Given the description of an element on the screen output the (x, y) to click on. 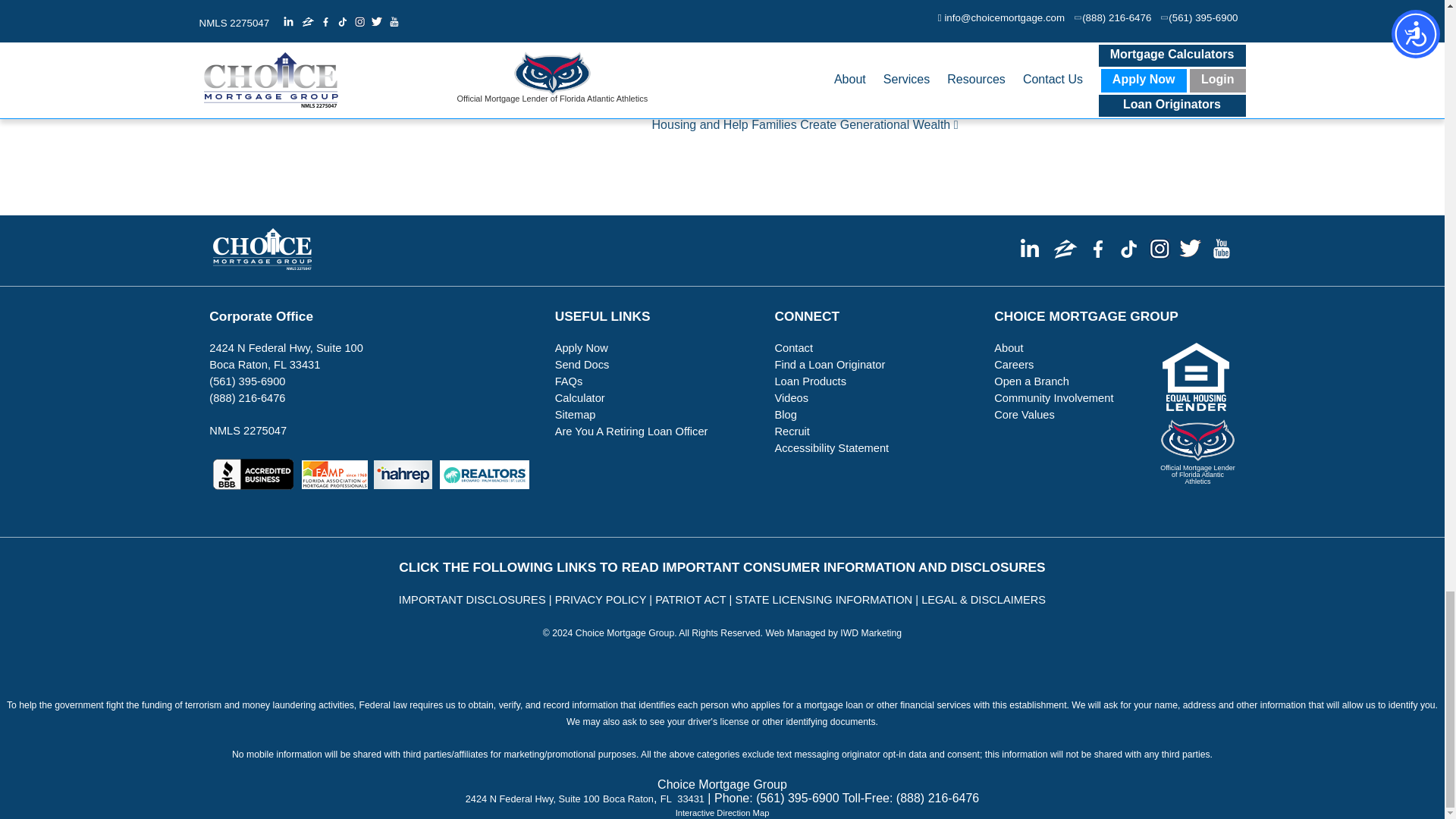
Facebook (732, 29)
Print (823, 29)
Twitter (762, 29)
Copy Link (853, 29)
Twitter (762, 29)
Facebook (732, 29)
Email (792, 29)
